Given the description of an element on the screen output the (x, y) to click on. 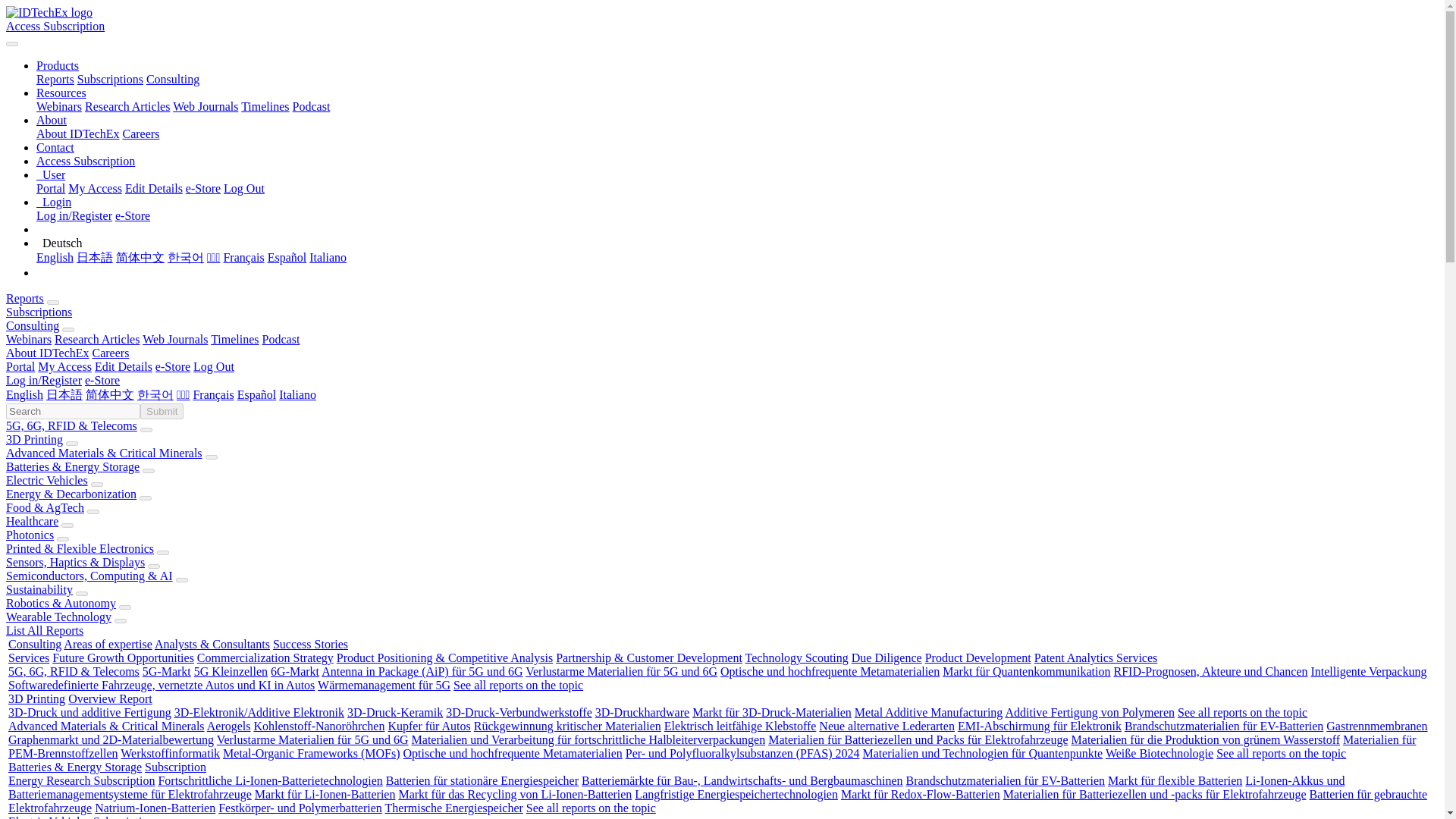
Resources (60, 92)
  Deutsch (58, 242)
Products (57, 65)
Reports (24, 297)
Timelines (264, 106)
Contact (55, 146)
Podcast (311, 106)
Web Journals (205, 106)
Careers (141, 133)
English (55, 256)
Research Articles (127, 106)
Portal (50, 187)
e-Store (132, 215)
Access Subscription (85, 160)
Access Subscription (54, 25)
